Given the description of an element on the screen output the (x, y) to click on. 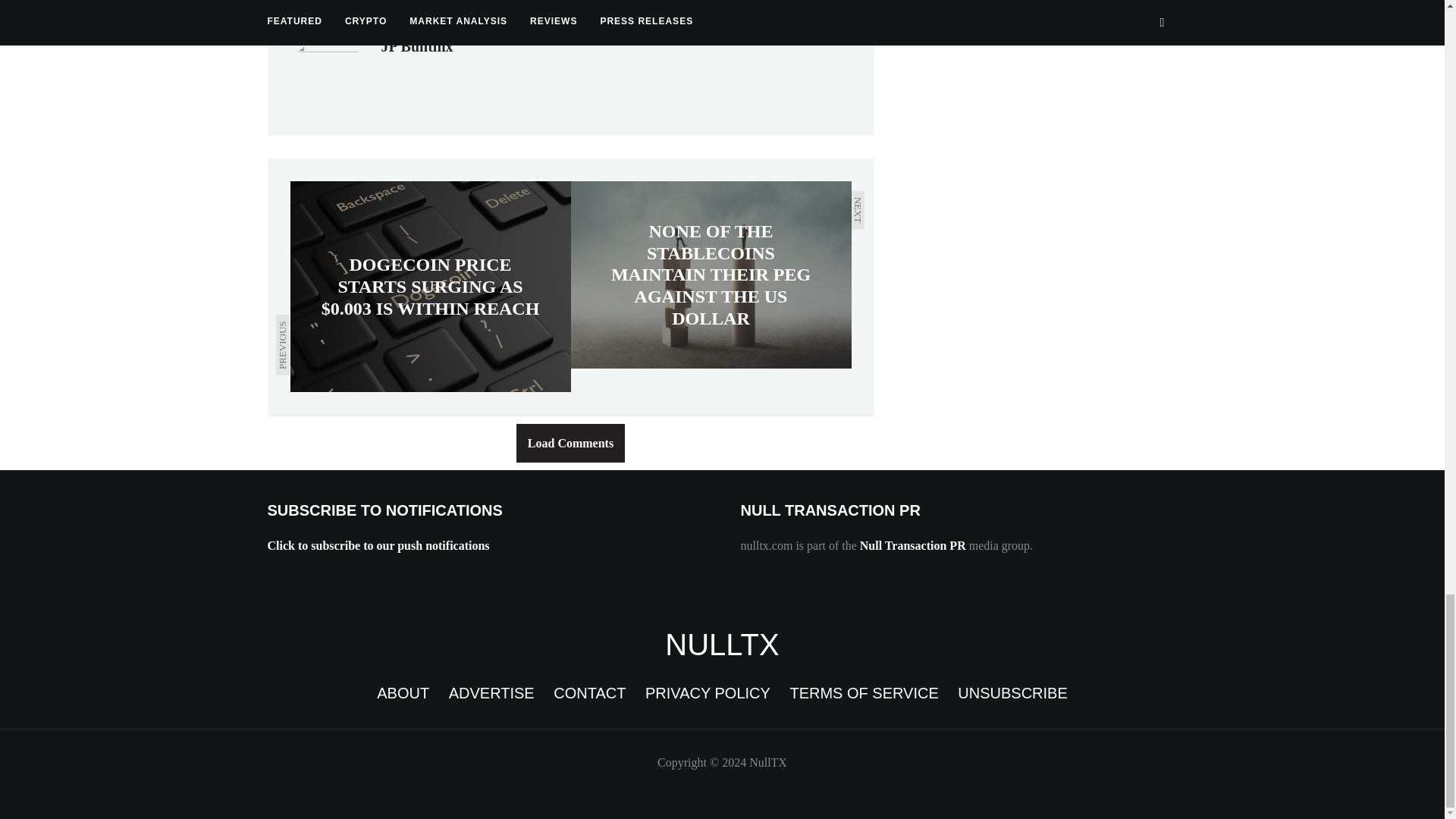
Posts by JP Buntinx (416, 45)
Cryptocurrency News (721, 644)
